Given the description of an element on the screen output the (x, y) to click on. 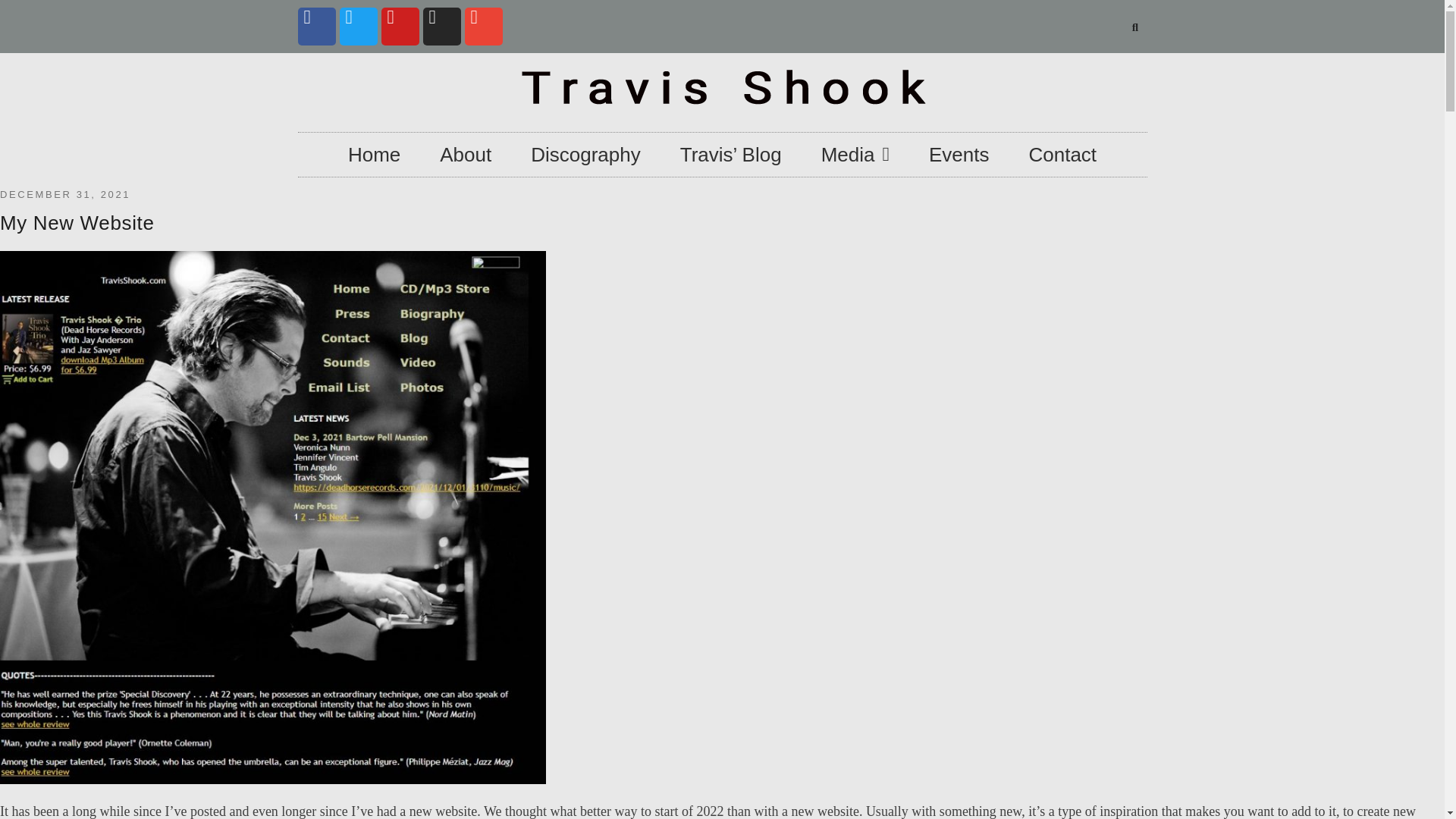
Search (1129, 26)
Events (958, 154)
About (465, 154)
Media (855, 154)
Contact (1062, 154)
My New Website (77, 222)
Discography (586, 154)
Home (374, 154)
